Given the description of an element on the screen output the (x, y) to click on. 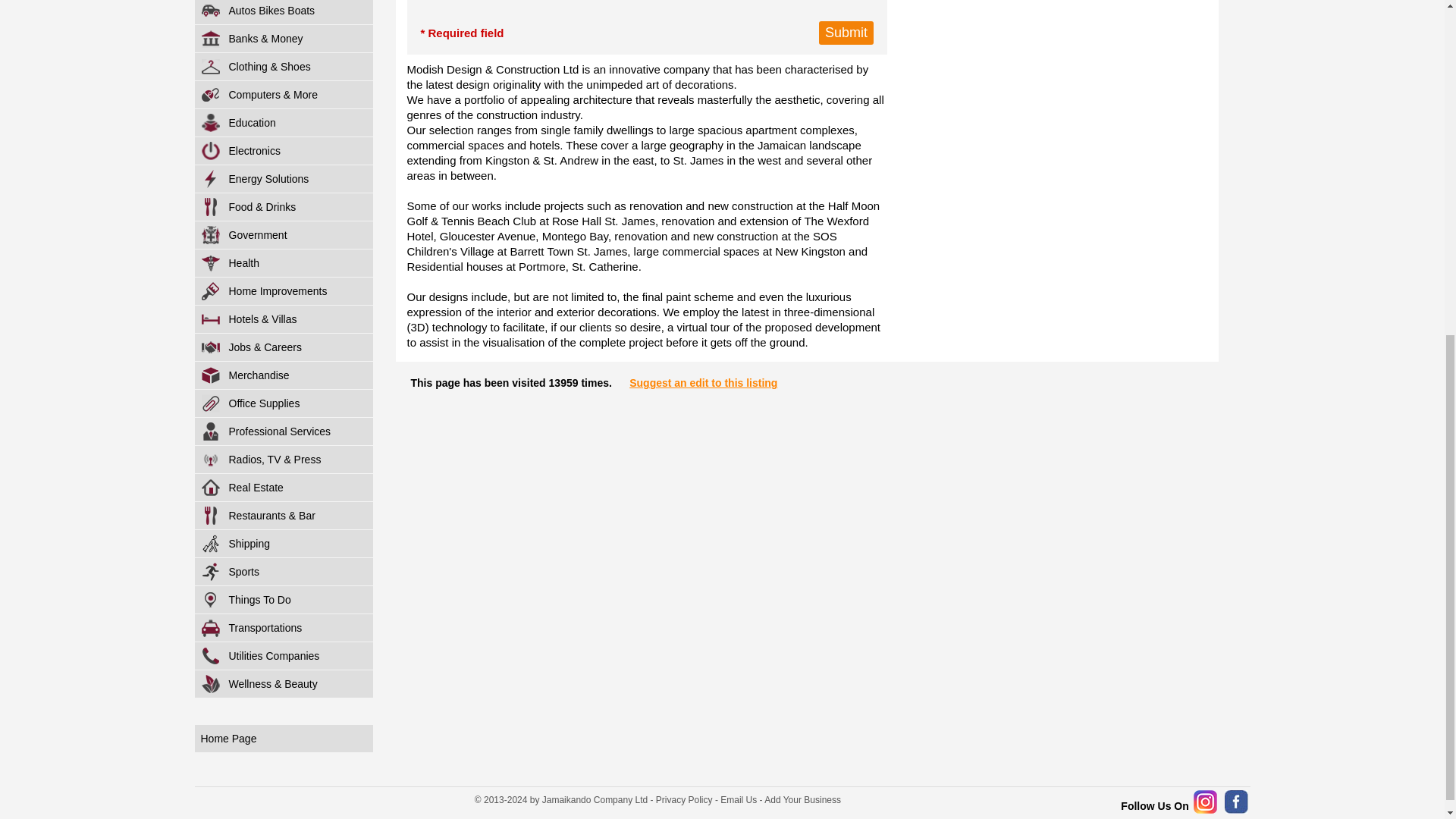
Submit (845, 33)
